Given the description of an element on the screen output the (x, y) to click on. 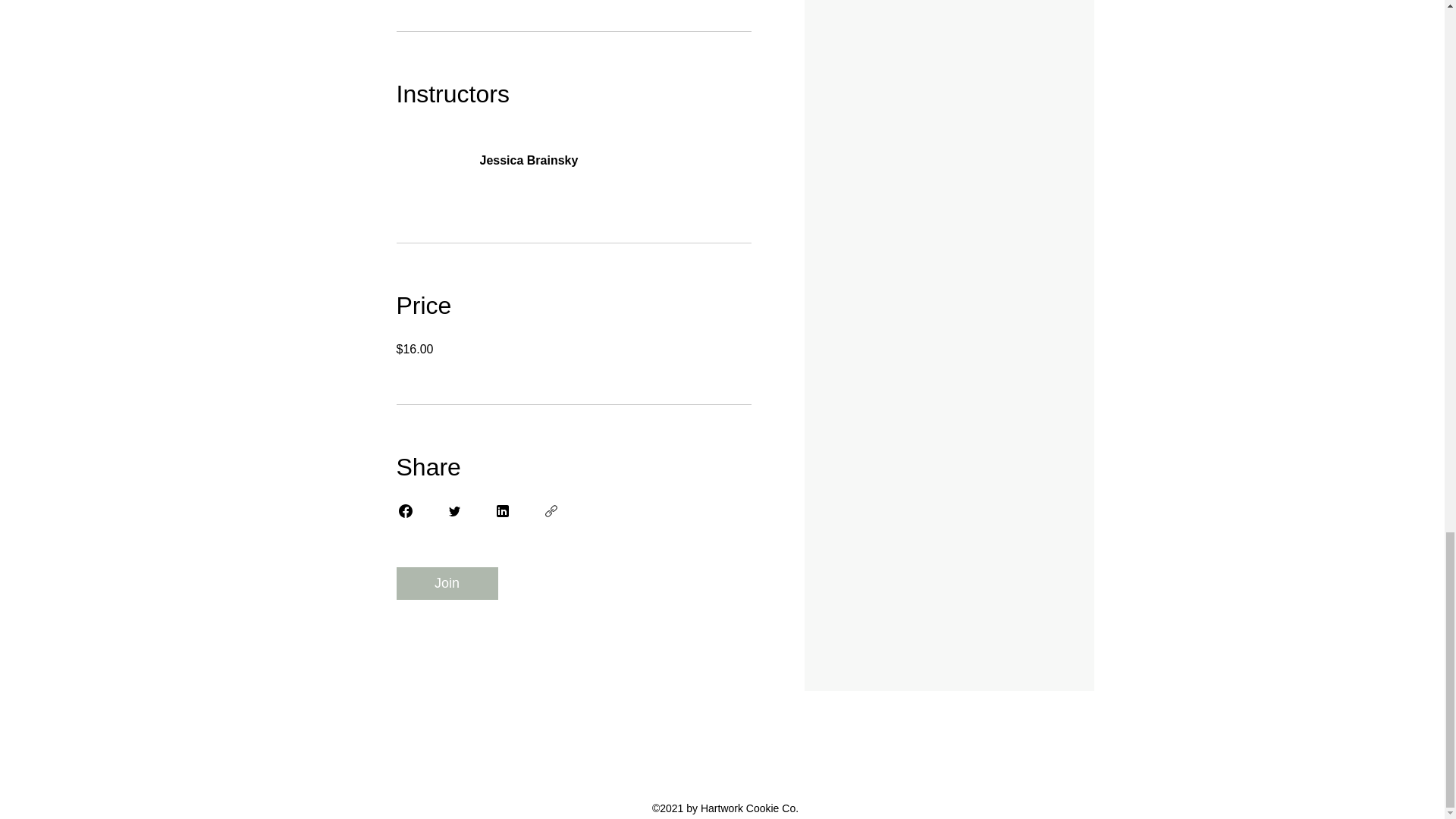
Join (446, 583)
Jessica Brainsky (573, 151)
